Given the description of an element on the screen output the (x, y) to click on. 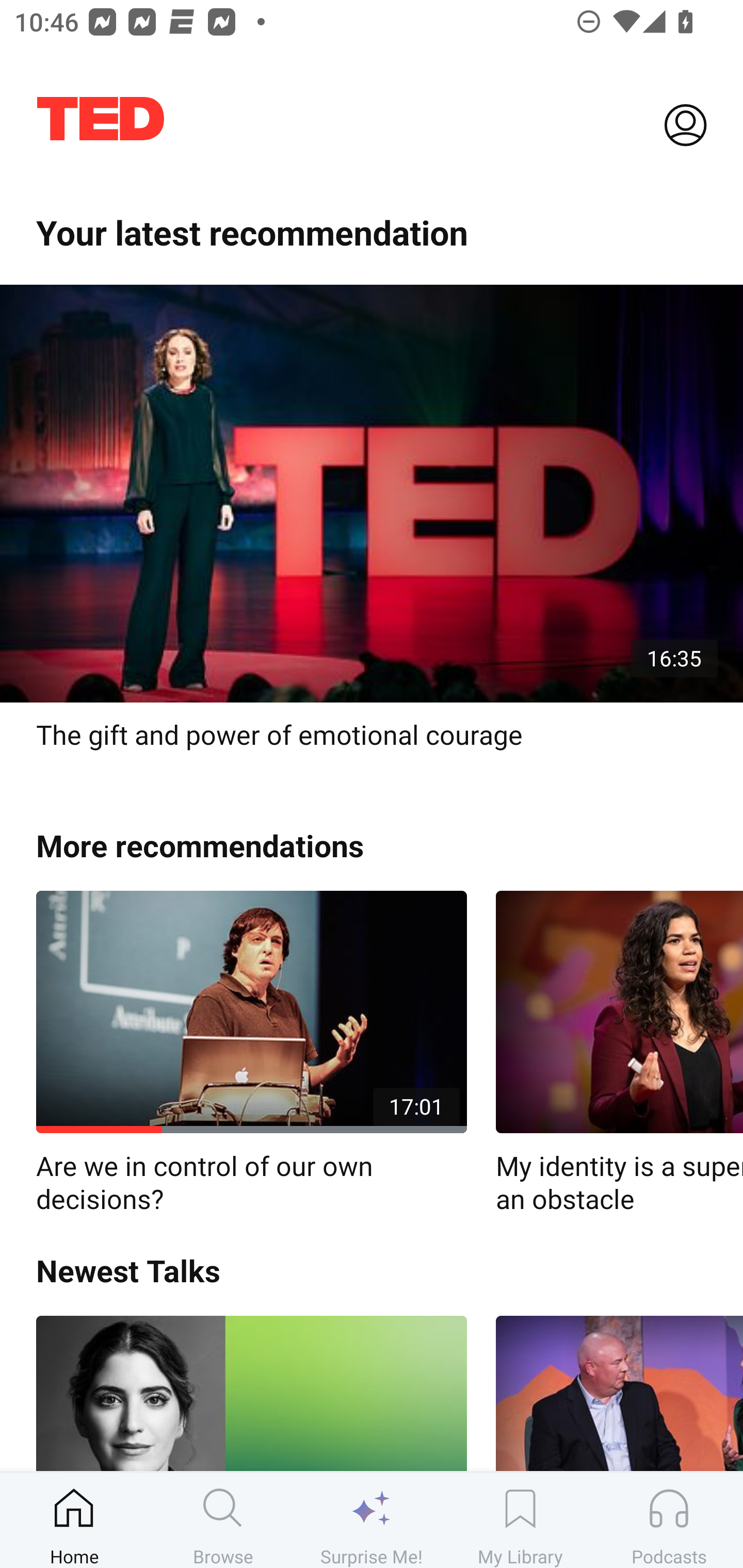
17:01 Are we in control of our own decisions? (251, 1053)
My identity is a superpower -- not an obstacle (619, 1053)
Home (74, 1520)
Browse (222, 1520)
Surprise Me! (371, 1520)
My Library (519, 1520)
Podcasts (668, 1520)
